Given the description of an element on the screen output the (x, y) to click on. 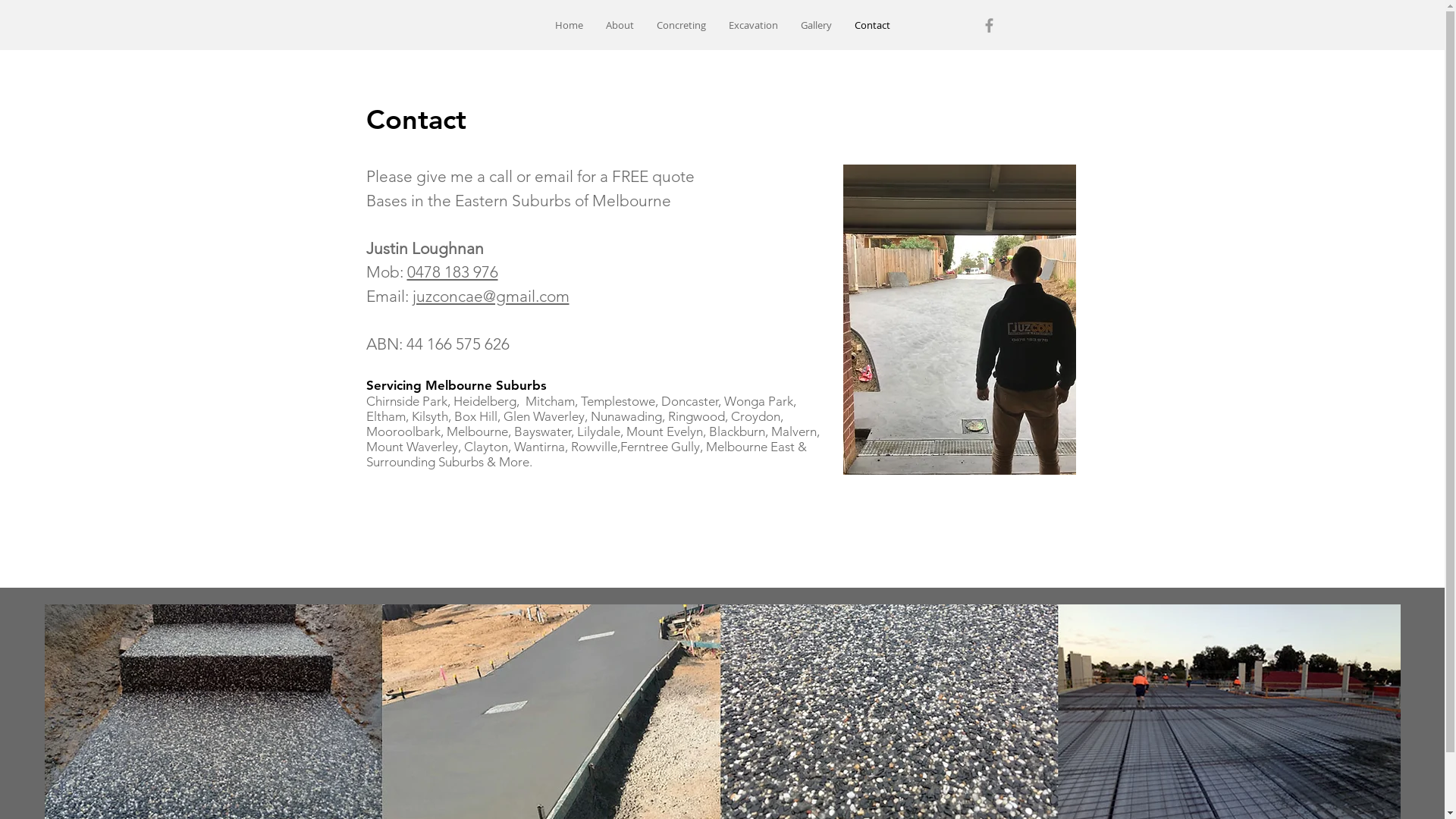
Home Element type: text (567, 25)
0478 183 976 Element type: text (451, 271)
About Element type: text (619, 25)
juzconcae@gmail.com Element type: text (490, 295)
Concreting Element type: text (680, 25)
Gallery Element type: text (815, 25)
Contact Element type: text (872, 25)
Excavation Element type: text (753, 25)
